Given the description of an element on the screen output the (x, y) to click on. 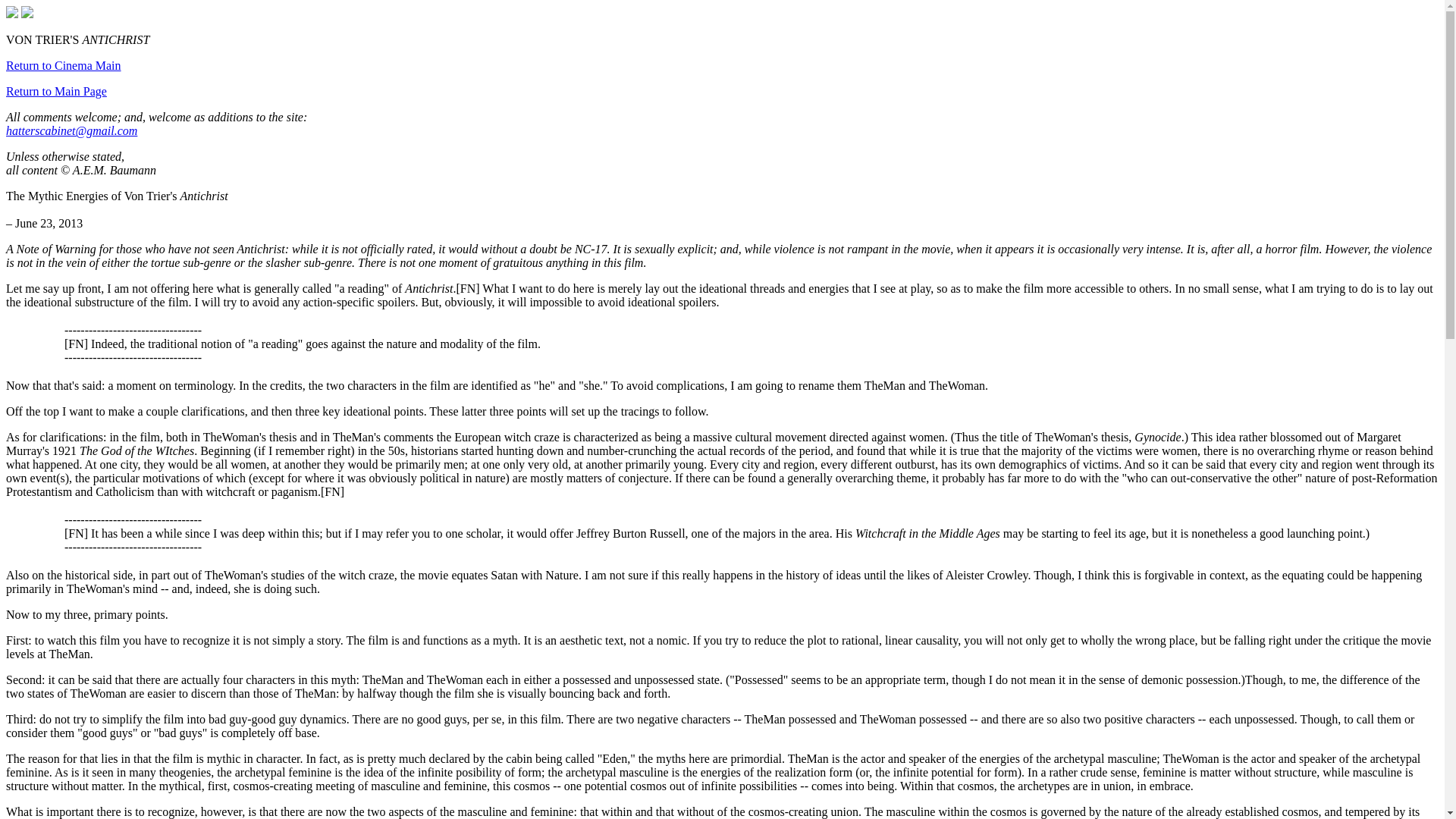
Return to Cinema Main (62, 65)
Return to Main Page (55, 91)
